Given the description of an element on the screen output the (x, y) to click on. 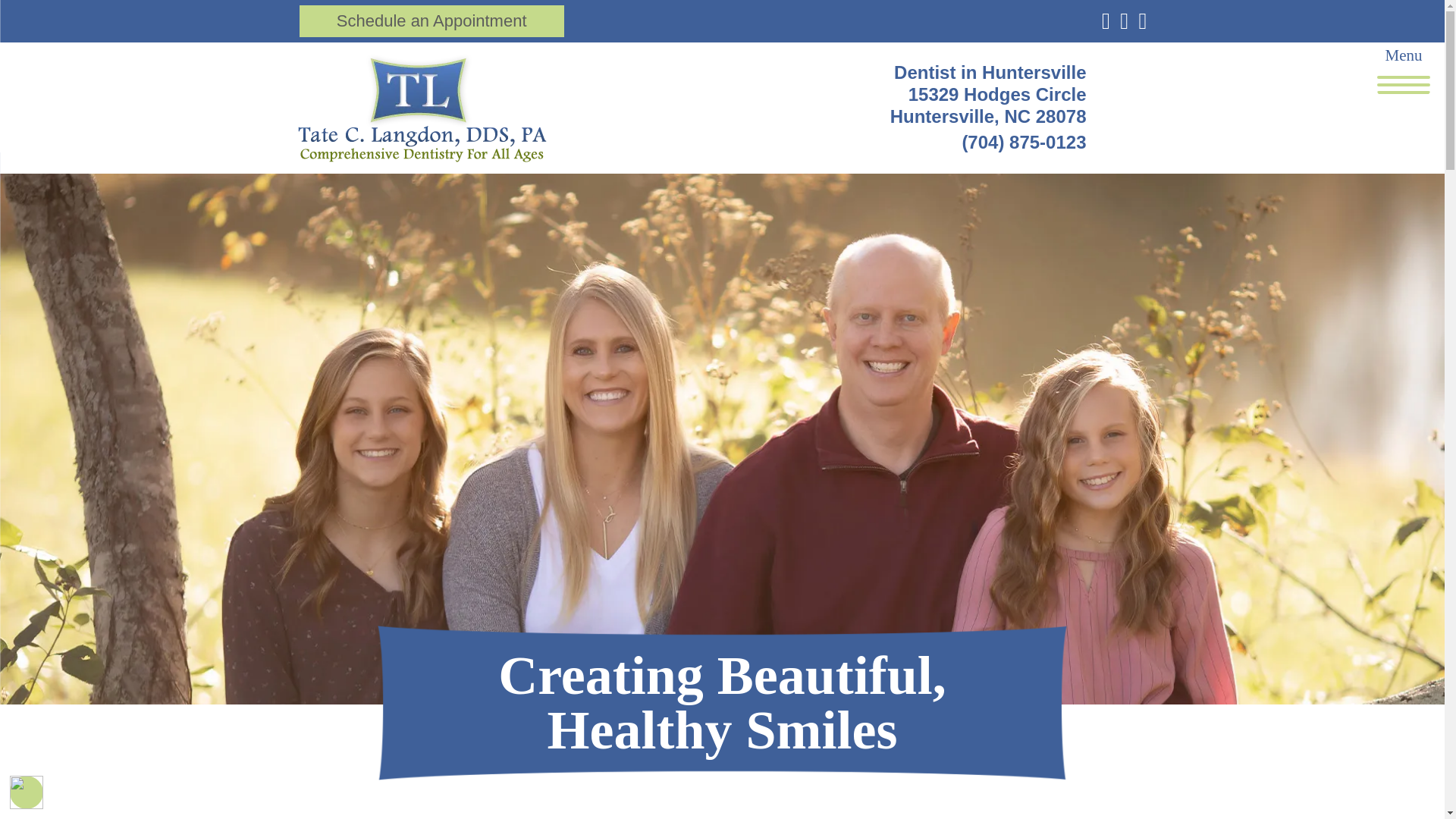
Accessibility Menu (26, 792)
Schedule an Appointment (430, 21)
